Given the description of an element on the screen output the (x, y) to click on. 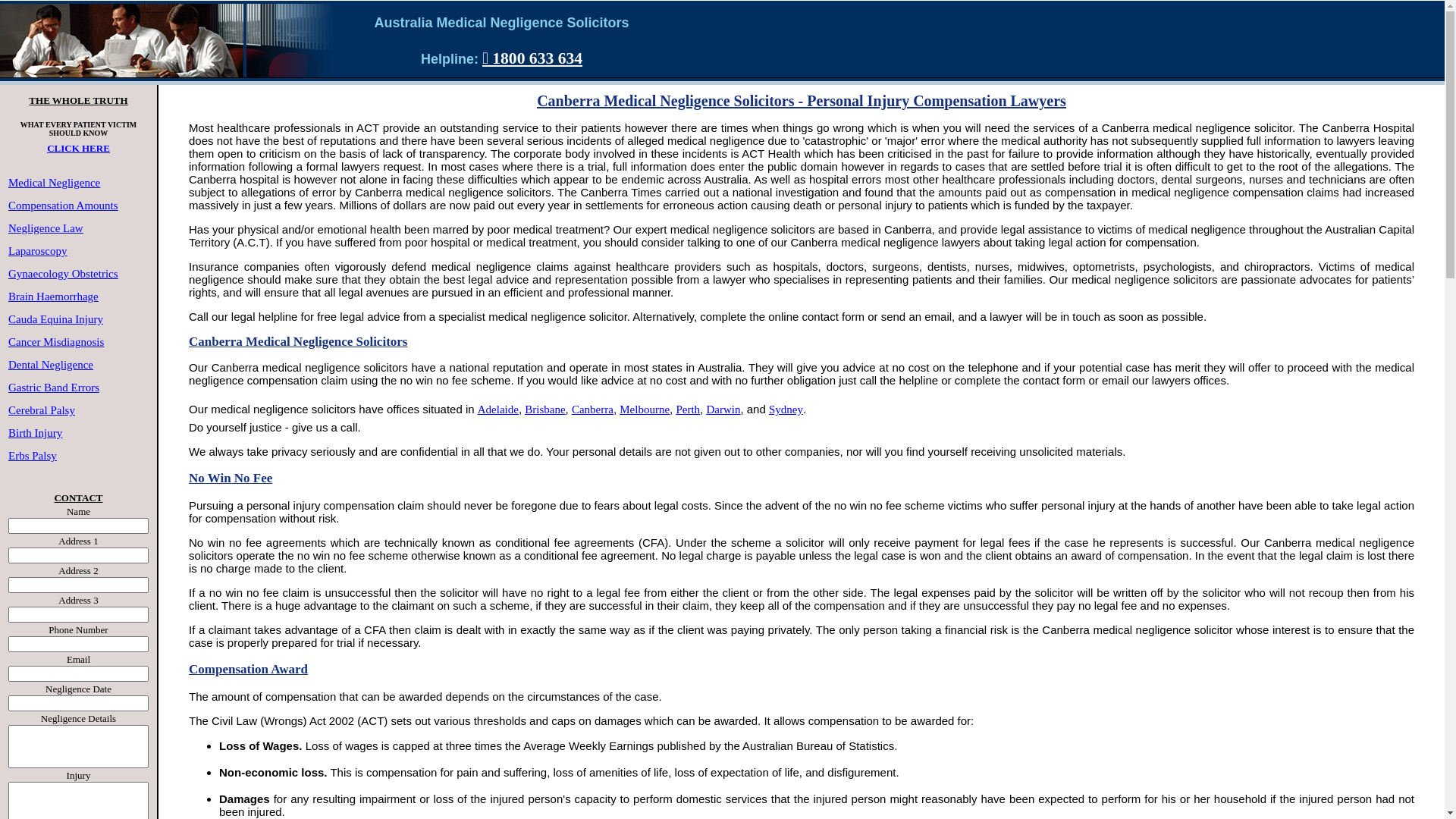
Gynaecology Obstetrics Element type: text (63, 273)
Sydney Element type: text (785, 409)
CLICK HERE Element type: text (78, 154)
Darwin Element type: text (723, 409)
Birth Injury Element type: text (35, 432)
Brisbane Element type: text (544, 409)
Brain Haemorrhage Element type: text (53, 296)
Medical Negligence Element type: text (54, 182)
Compensation Amounts Element type: text (63, 205)
Negligence Law Element type: text (45, 228)
Cerebral Palsy Element type: text (41, 410)
Cauda Equina Injury Element type: text (55, 319)
Canberra Element type: text (592, 409)
Laparoscopy Element type: text (37, 250)
Erbs Palsy Element type: text (32, 455)
Dental Negligence Element type: text (50, 364)
Melbourne Element type: text (644, 409)
Australia Medical Negligence Solicitors
    Element type: text (500, 30)
Adelaide Element type: text (497, 409)
Cancer Misdiagnosis Element type: text (55, 341)
Gastric Band Errors Element type: text (53, 387)
Perth Element type: text (687, 409)
Helpline: Element type: text (451, 58)
